Given the description of an element on the screen output the (x, y) to click on. 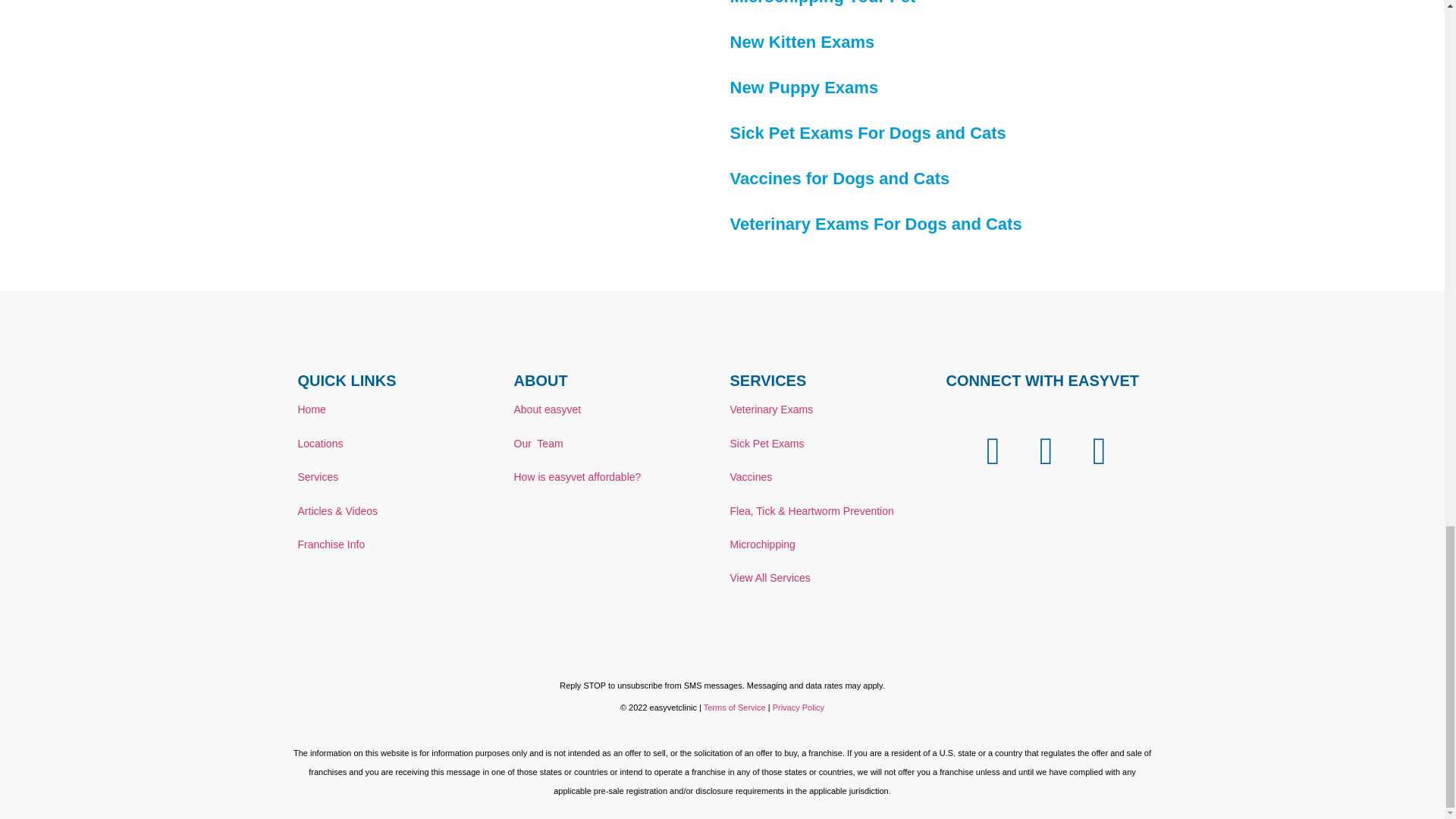
New Puppy Exams (803, 87)
Microchipping Your Pet (822, 2)
Vaccines for Dogs and Cats (839, 178)
Veterinary Exams For Dogs and Cats (875, 223)
Services (317, 476)
New Kitten Exams (802, 41)
Sick Pet Exams For Dogs and Cats (867, 132)
Home (310, 409)
Locations (319, 443)
